Given the description of an element on the screen output the (x, y) to click on. 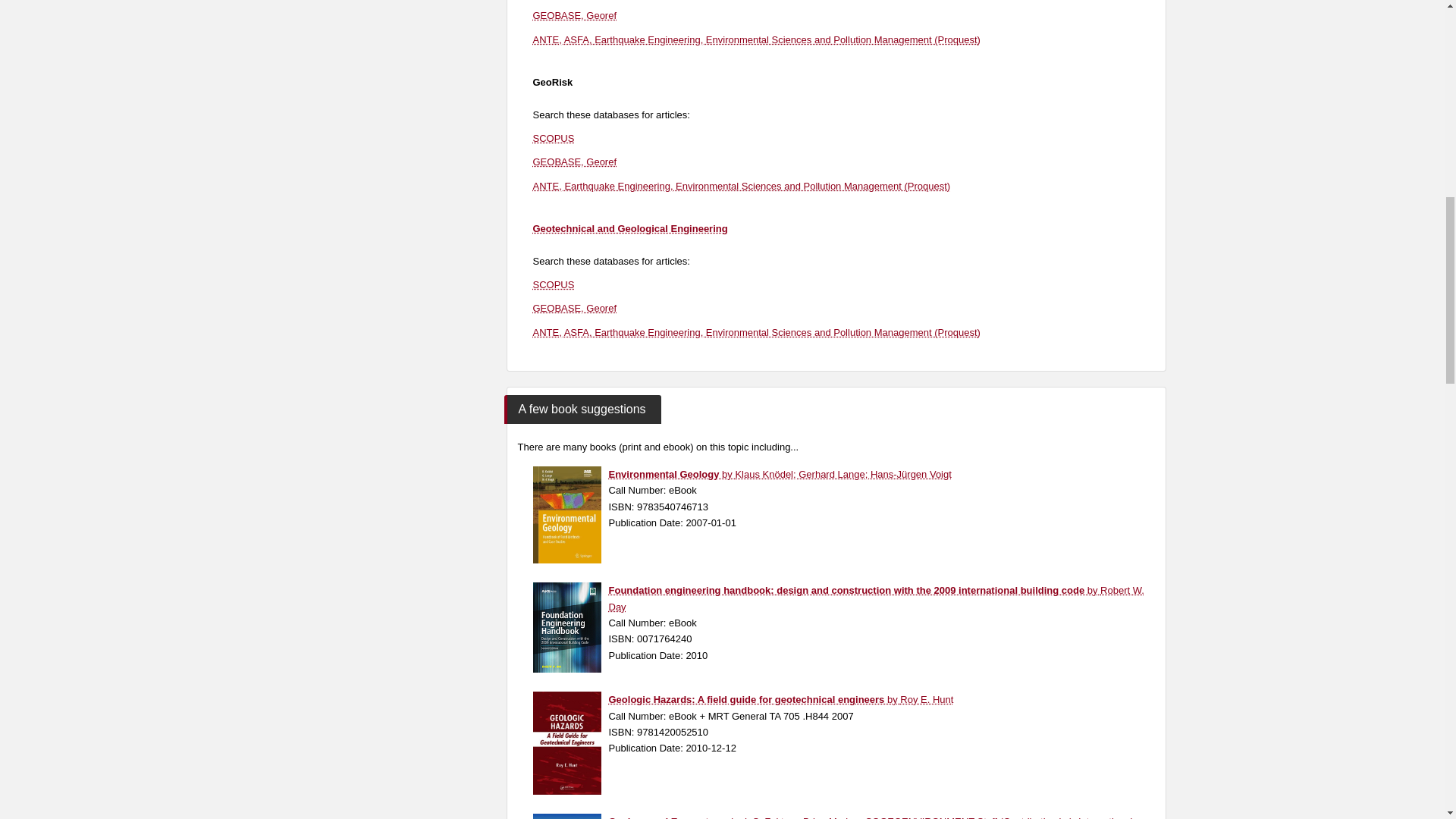
SCOPUS (552, 138)
GEOBASE, Georef (573, 15)
